Given the description of an element on the screen output the (x, y) to click on. 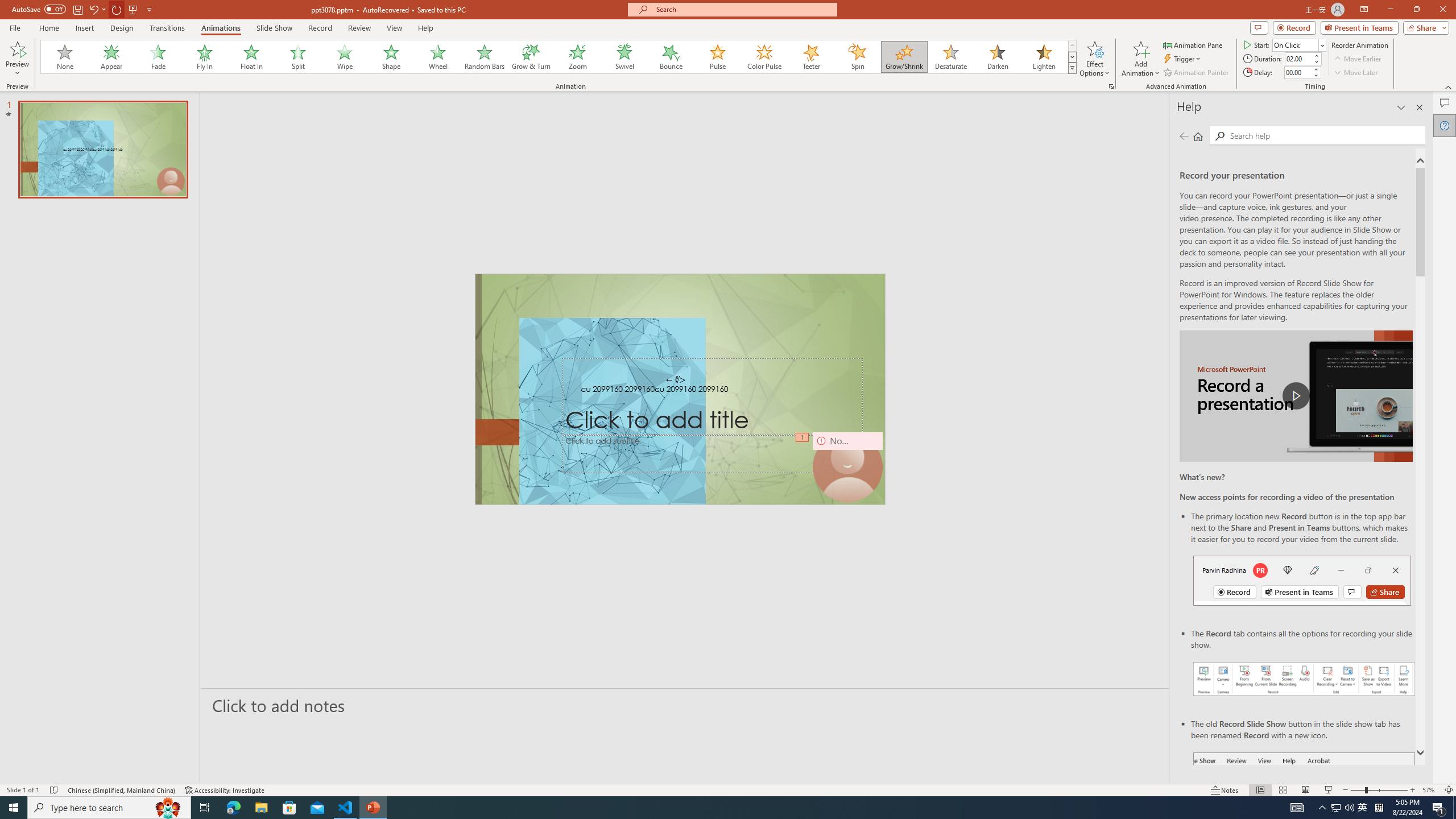
Record your presentations screenshot one (1304, 678)
Float In (251, 56)
Lighten (1043, 56)
